Given the description of an element on the screen output the (x, y) to click on. 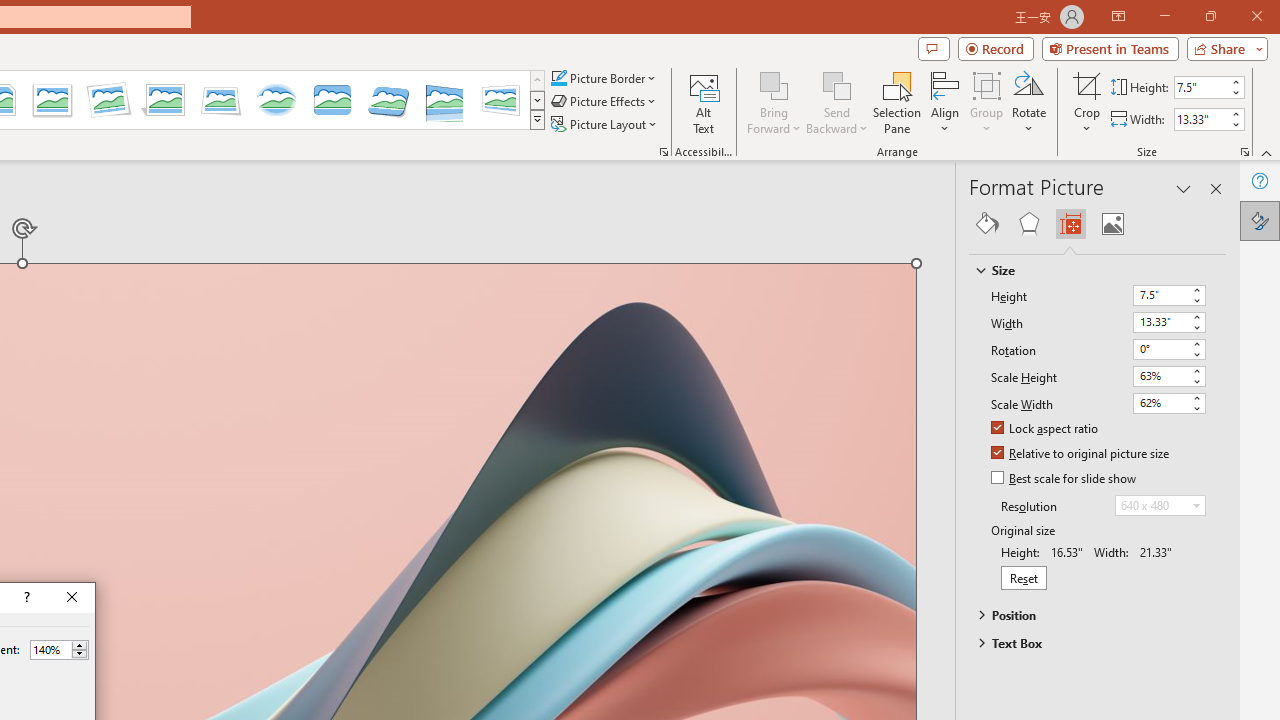
Reflected Perspective Right (445, 100)
Size and Position... (1244, 151)
Picture Layout (605, 124)
Best scale for slide show (1065, 479)
Scale Width (1168, 403)
Bevel Perspective (388, 100)
Scale Height (1168, 376)
Crop (1087, 84)
Moderate Frame, White (52, 100)
Rotation (1168, 349)
Width (1168, 321)
